Given the description of an element on the screen output the (x, y) to click on. 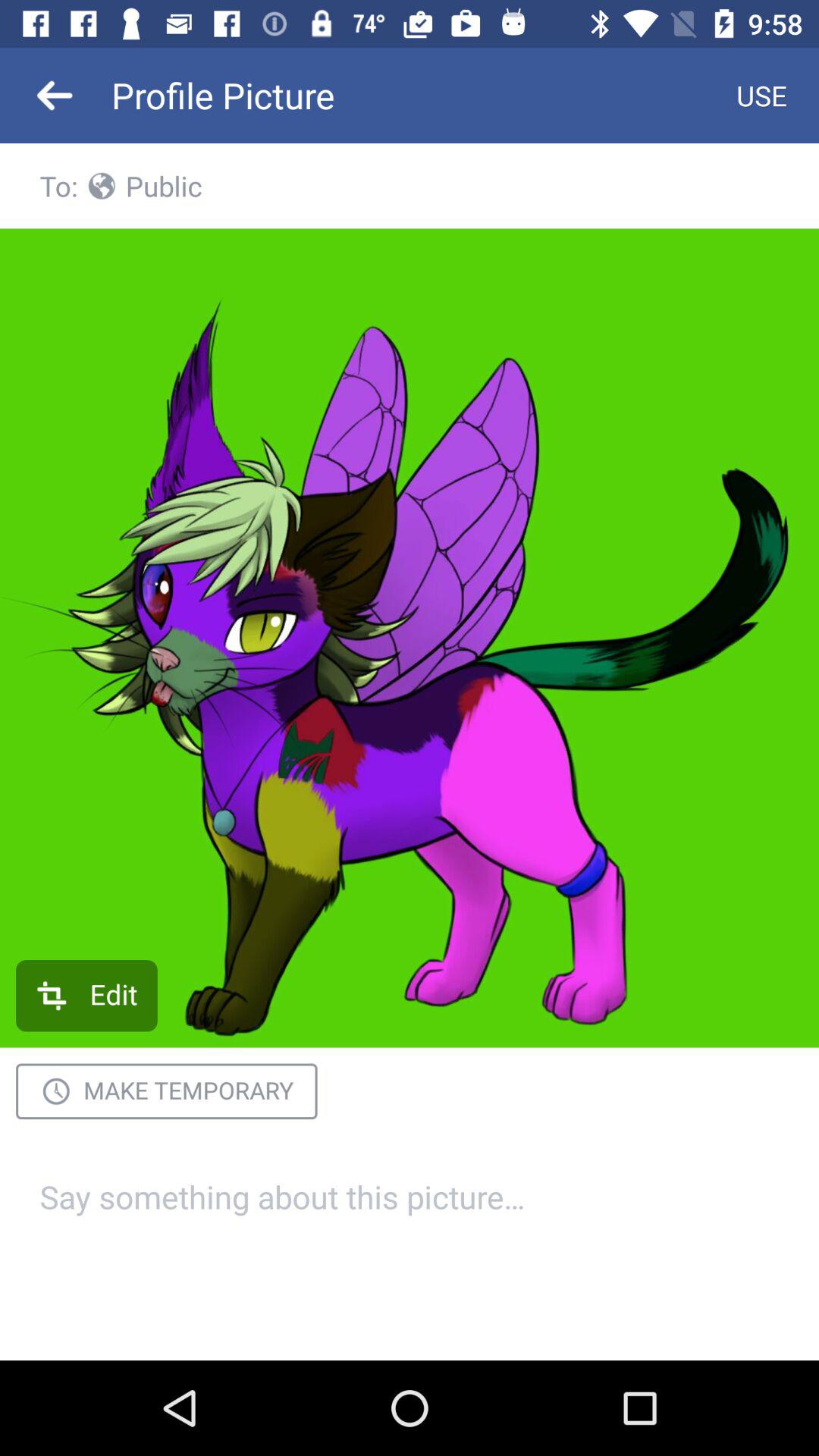
turn off item above public (761, 95)
